Given the description of an element on the screen output the (x, y) to click on. 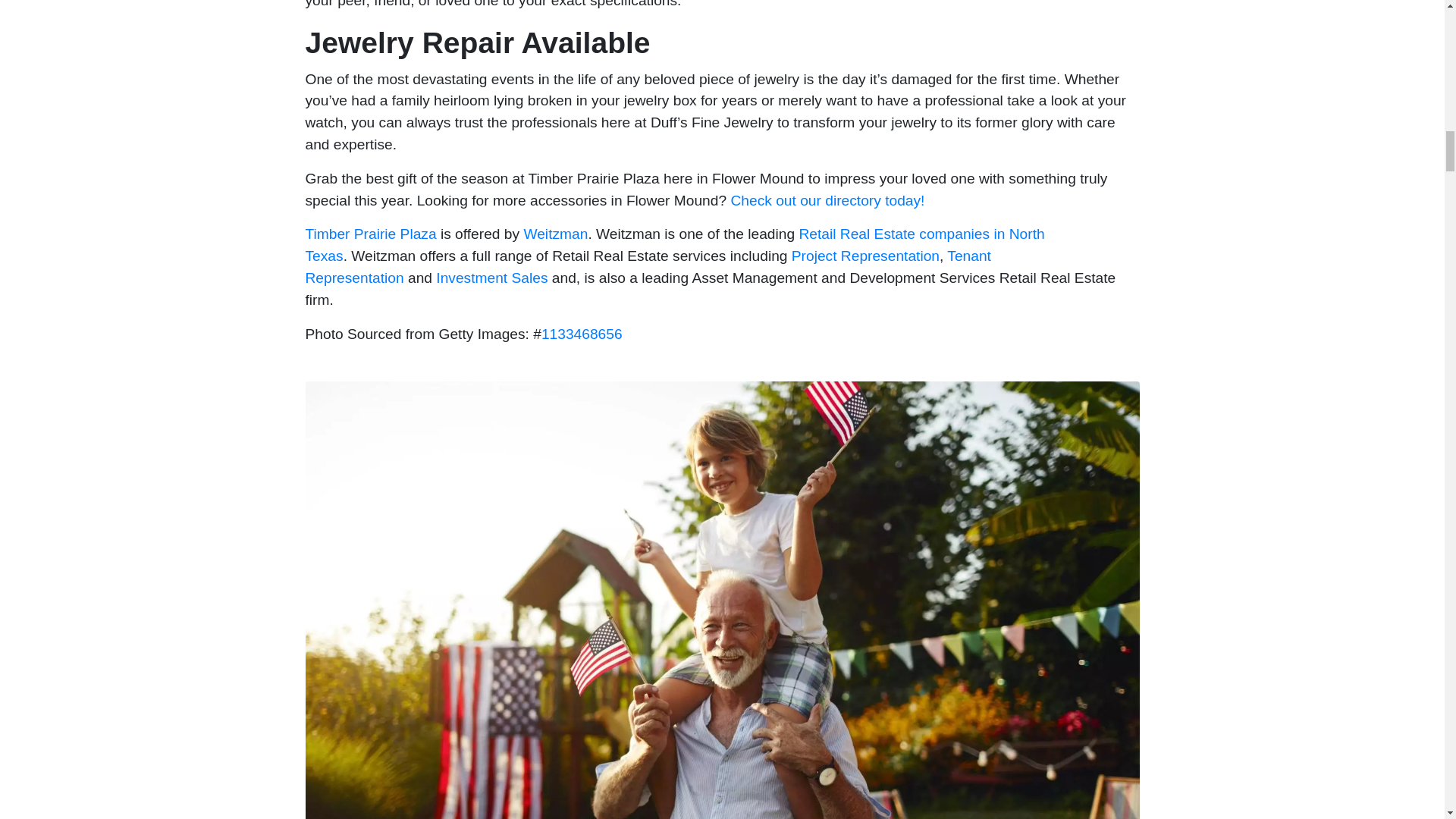
Check out our directory today! (827, 200)
Timber Prairie Plaza (369, 233)
